Given the description of an element on the screen output the (x, y) to click on. 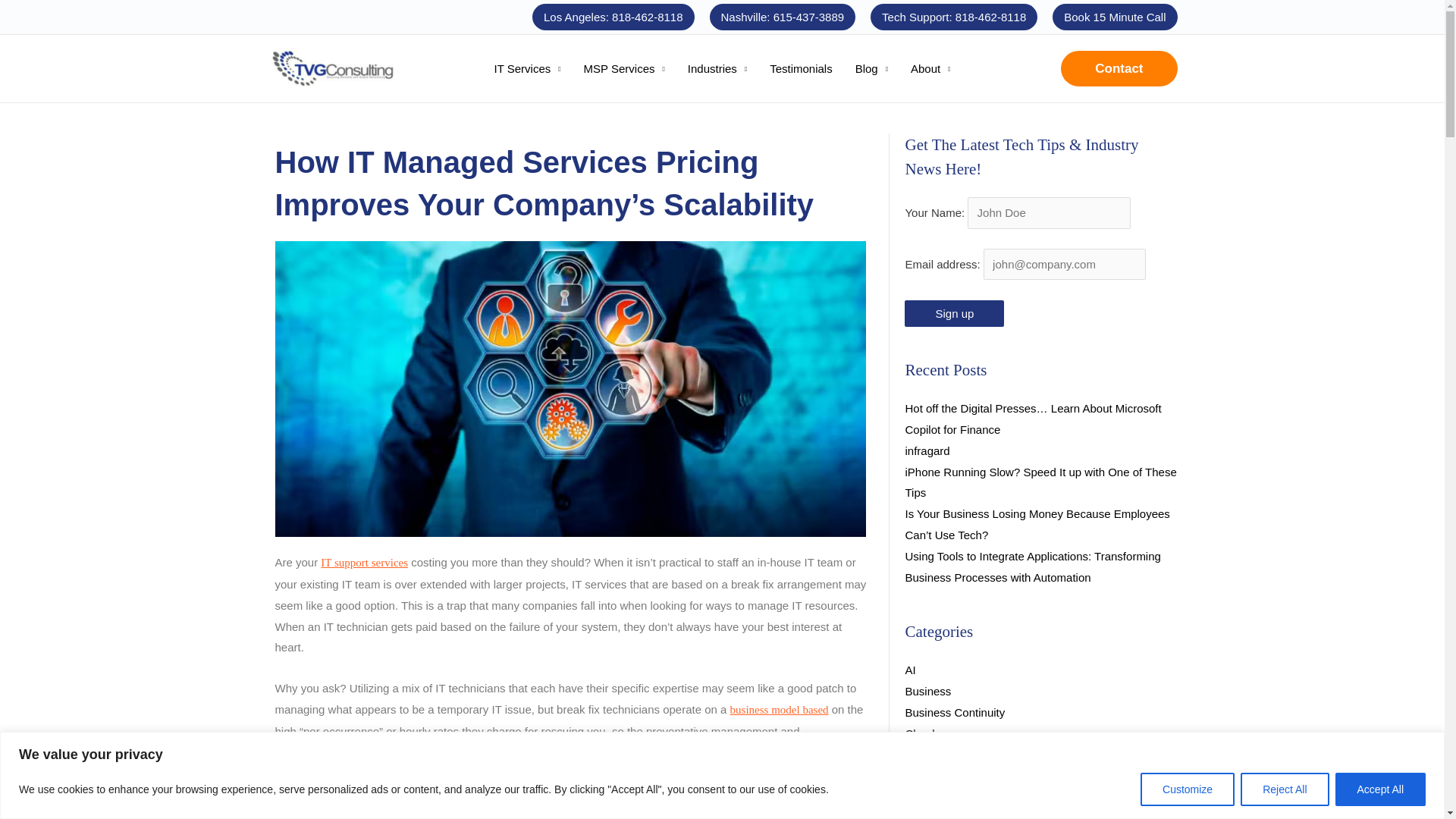
IT Services (527, 68)
Accept All (1380, 788)
Sign up (954, 313)
Nashville: 615-437-3889 (783, 17)
Tech Support: 818-462-8118 (953, 17)
Customize (1187, 788)
Reject All (1283, 788)
Los Angeles: 818-462-8118 (613, 17)
Book 15 Minute Call (1114, 17)
